Given the description of an element on the screen output the (x, y) to click on. 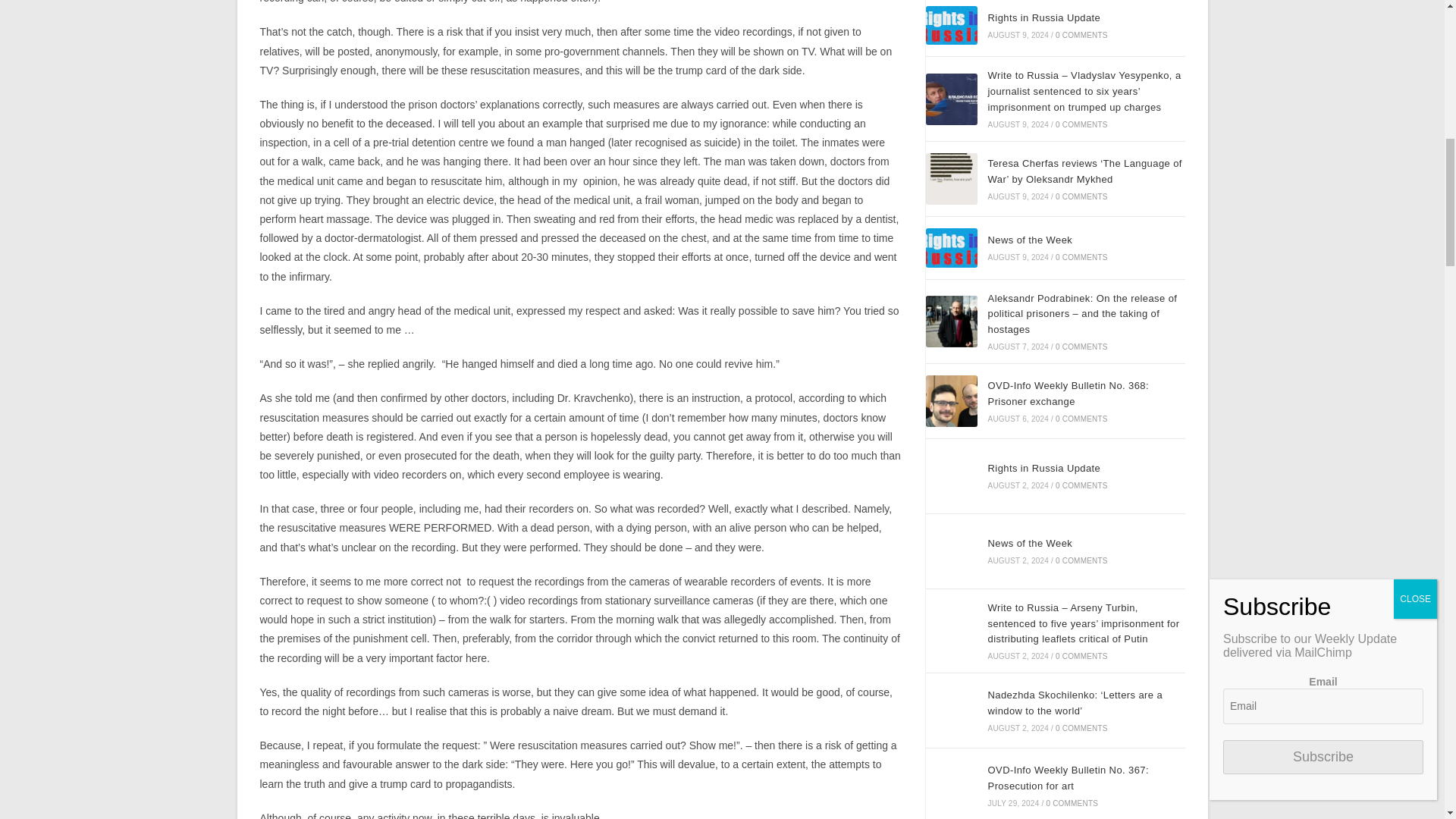
News of the Week (951, 551)
News of the Week (951, 247)
Rights in Russia Update (951, 476)
Rights in Russia Update (951, 25)
OVD-Info Weekly Bulletin No. 368: Prisoner exchange (951, 400)
